Given the description of an element on the screen output the (x, y) to click on. 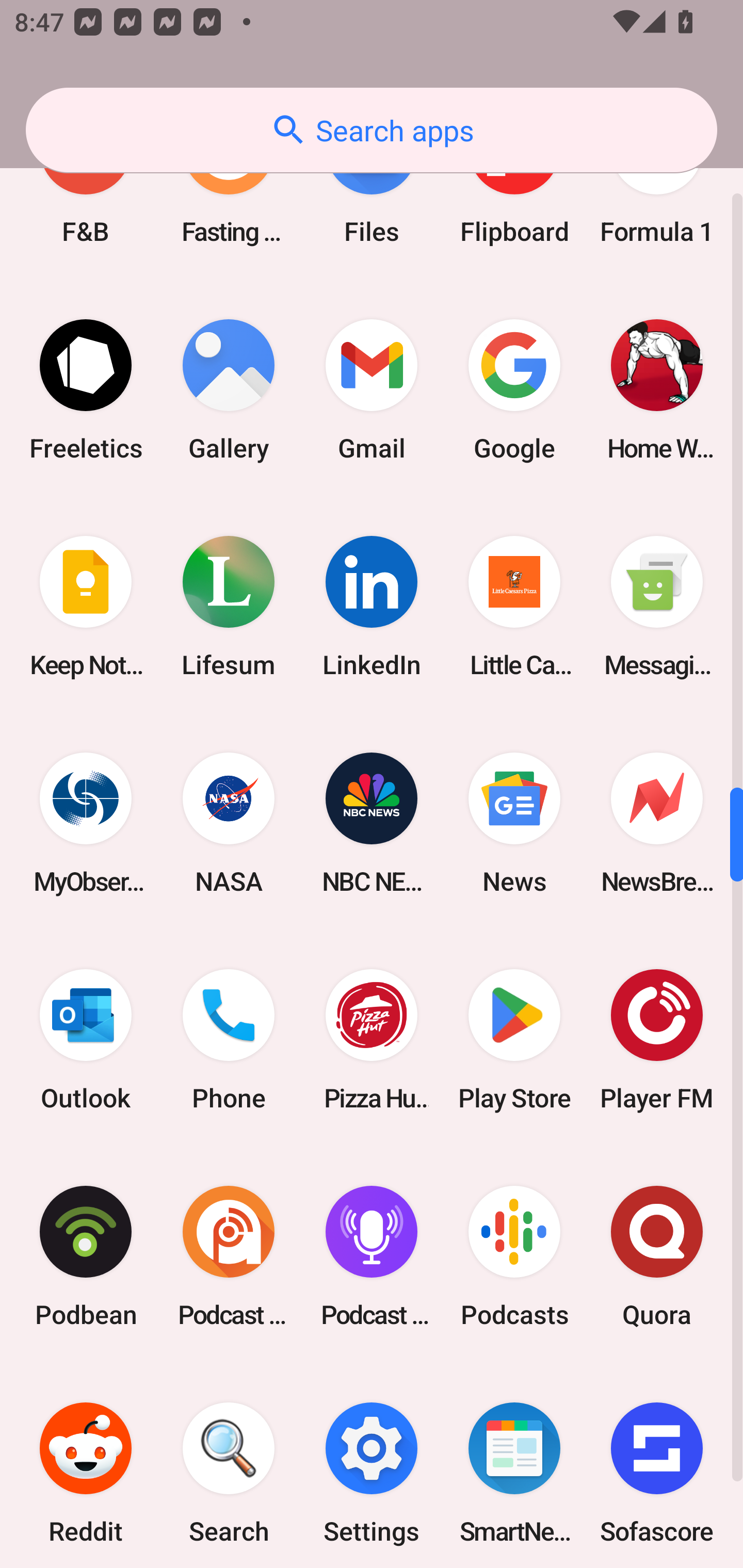
  Search apps (371, 130)
F&B (85, 192)
Fasting Coach (228, 192)
Files (371, 192)
Flipboard (514, 192)
Formula 1 (656, 192)
Freeletics (85, 390)
Gallery (228, 390)
Gmail (371, 390)
Google (514, 390)
Home Workout (656, 390)
Keep Notes (85, 606)
Lifesum (228, 606)
LinkedIn (371, 606)
Little Caesars Pizza (514, 606)
Messaging (656, 606)
MyObservatory (85, 823)
NASA (228, 823)
NBC NEWS (371, 823)
News (514, 823)
NewsBreak (656, 823)
Outlook (85, 1039)
Phone (228, 1039)
Pizza Hut HK & Macau (371, 1039)
Play Store (514, 1039)
Player FM (656, 1039)
Podbean (85, 1255)
Podcast Addict (228, 1255)
Podcast Player (371, 1255)
Podcasts (514, 1255)
Quora (656, 1255)
Reddit (85, 1466)
Search (228, 1466)
Settings (371, 1466)
SmartNews (514, 1466)
Sofascore (656, 1466)
